Given the description of an element on the screen output the (x, y) to click on. 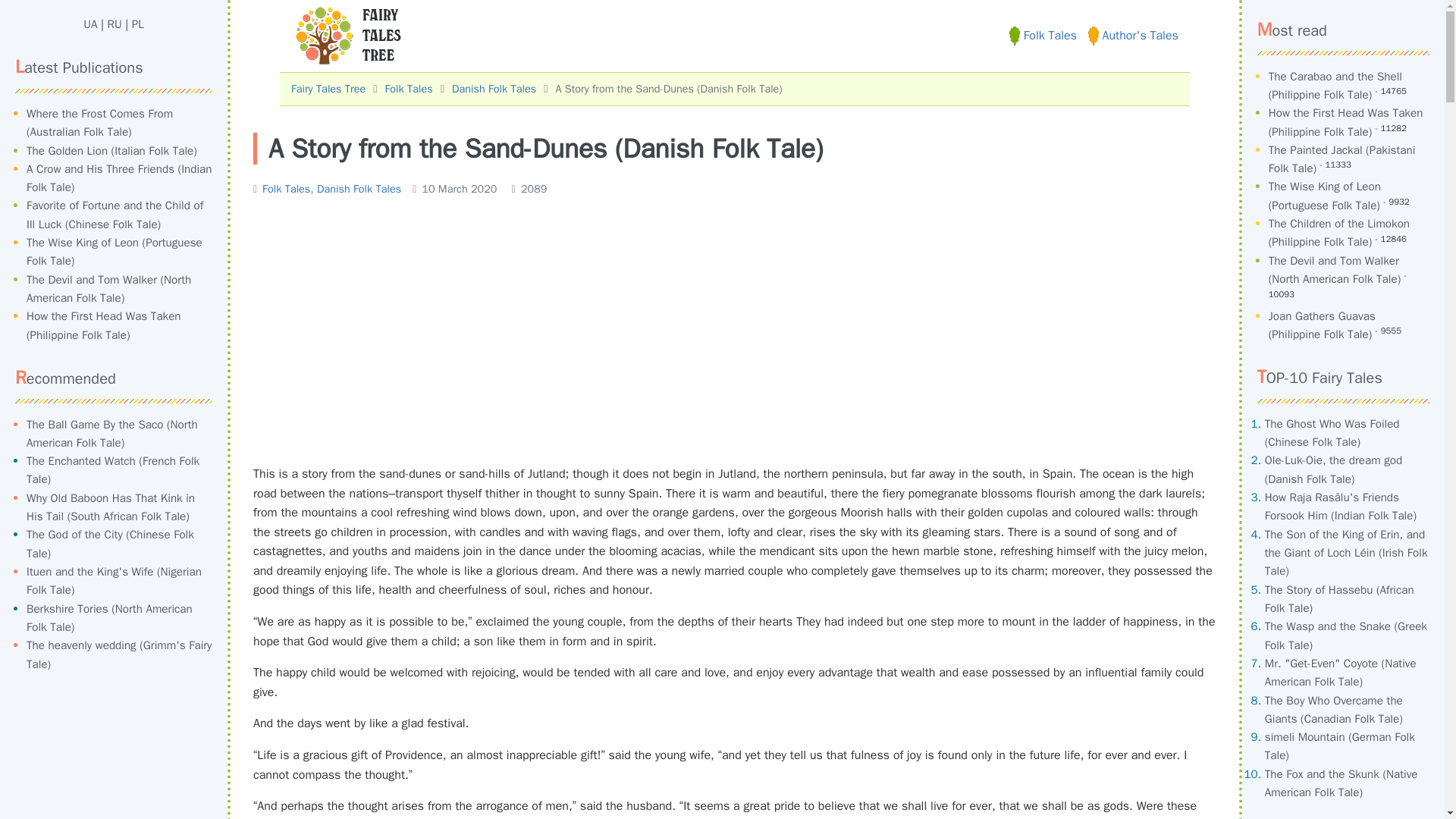
RU (114, 23)
Fairy Tales Tree (328, 88)
Danish Folk Tales (493, 88)
UA (89, 23)
Folk Tales (1043, 35)
Folk Tales (286, 188)
Danish Folk Tales (359, 188)
Author's Tales (1132, 35)
PL (138, 23)
Folk Tales (408, 88)
Post category (327, 188)
